Given the description of an element on the screen output the (x, y) to click on. 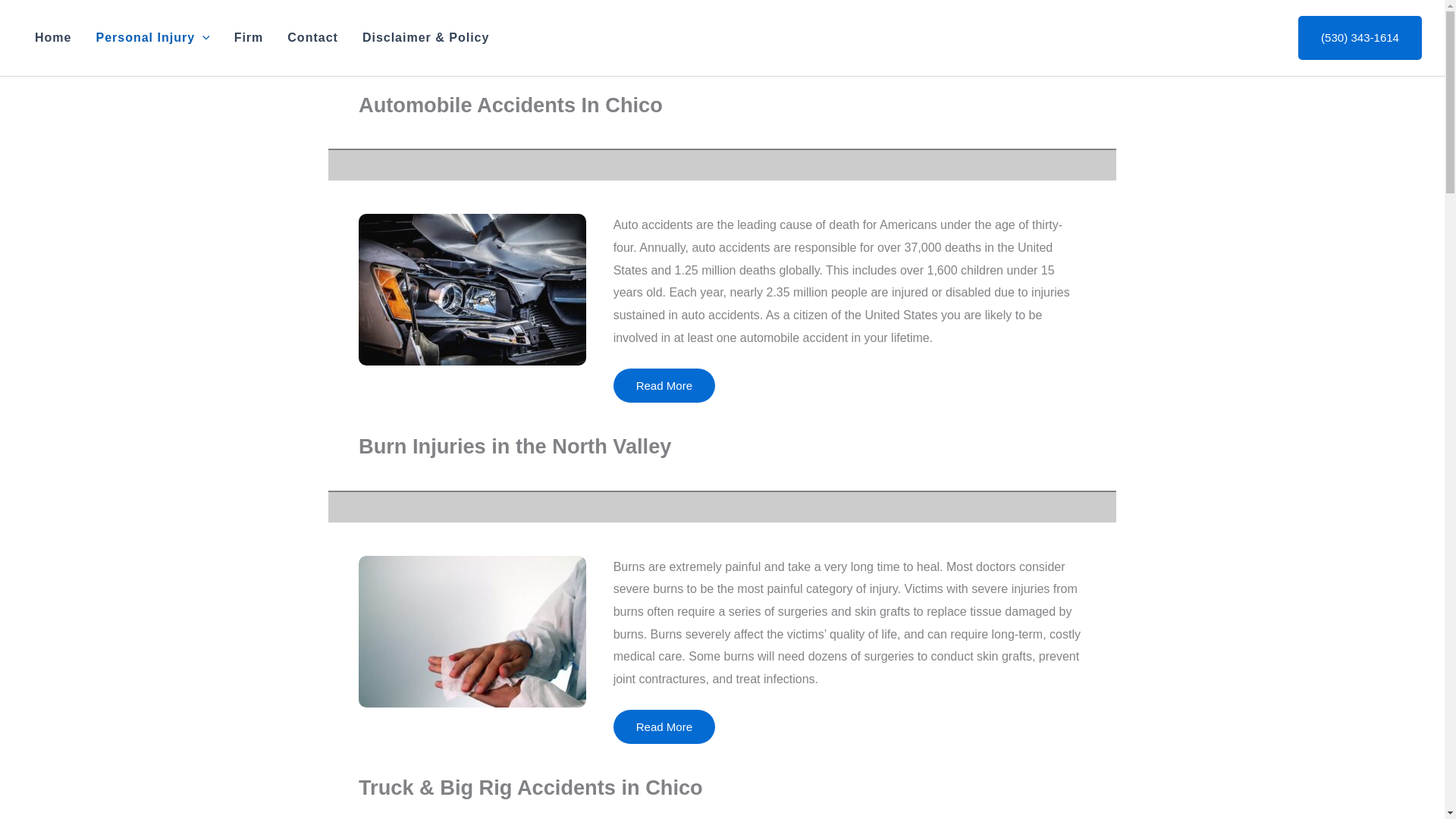
Read More (663, 385)
Home (52, 37)
Personal Injury (151, 37)
Read More (663, 726)
Contact (312, 37)
